Given the description of an element on the screen output the (x, y) to click on. 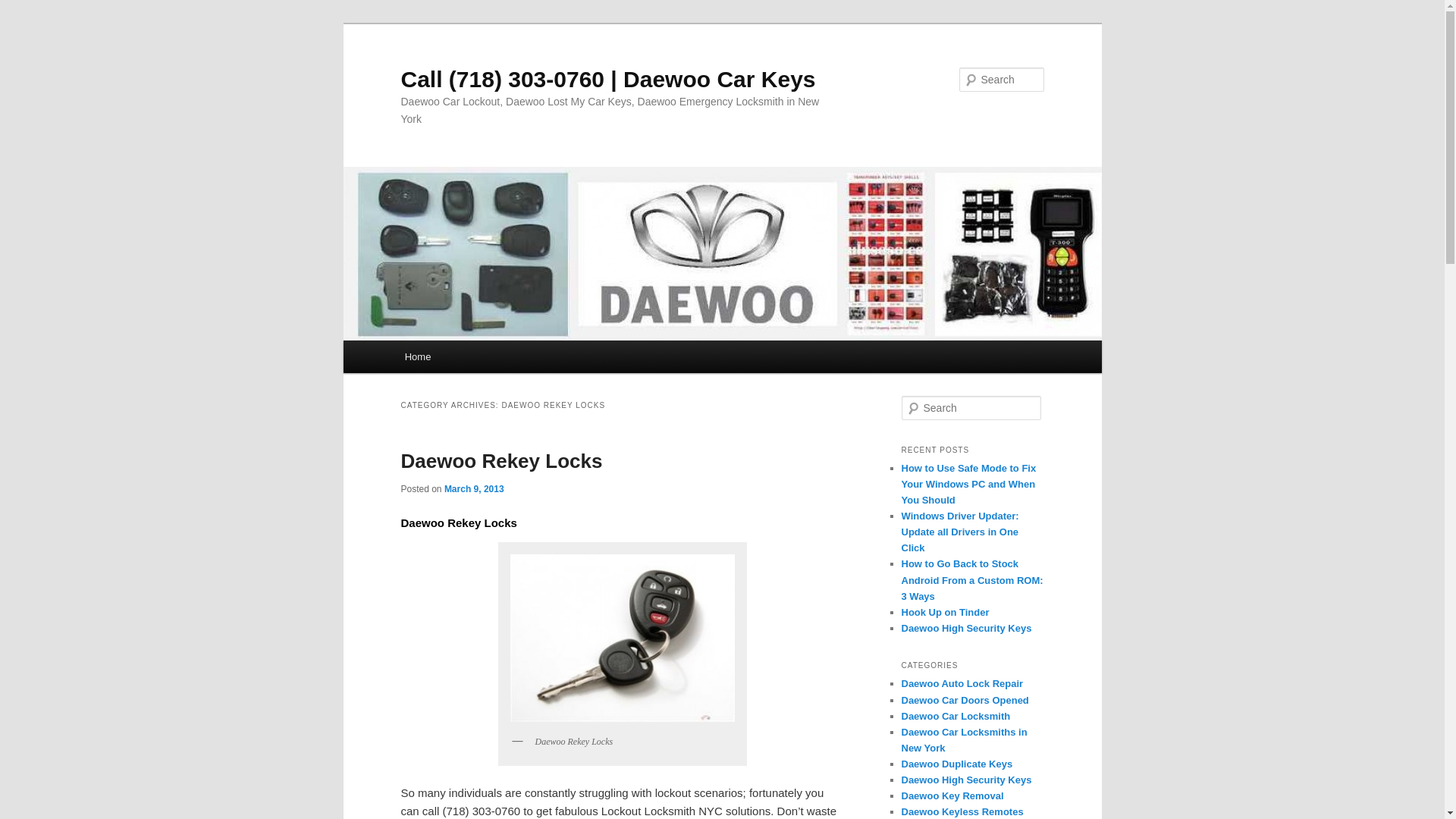
Daewoo Car Locksmith (955, 715)
Search (21, 11)
11:03 am (473, 489)
Search (24, 8)
Daewoo Auto Lock Repair (962, 683)
Daewoo Keyless Remotes (962, 811)
Daewoo Car Locksmiths in New York (963, 739)
March 9, 2013 (473, 489)
Windows Driver Updater: Update all Drivers in One Click (959, 531)
